Given the description of an element on the screen output the (x, y) to click on. 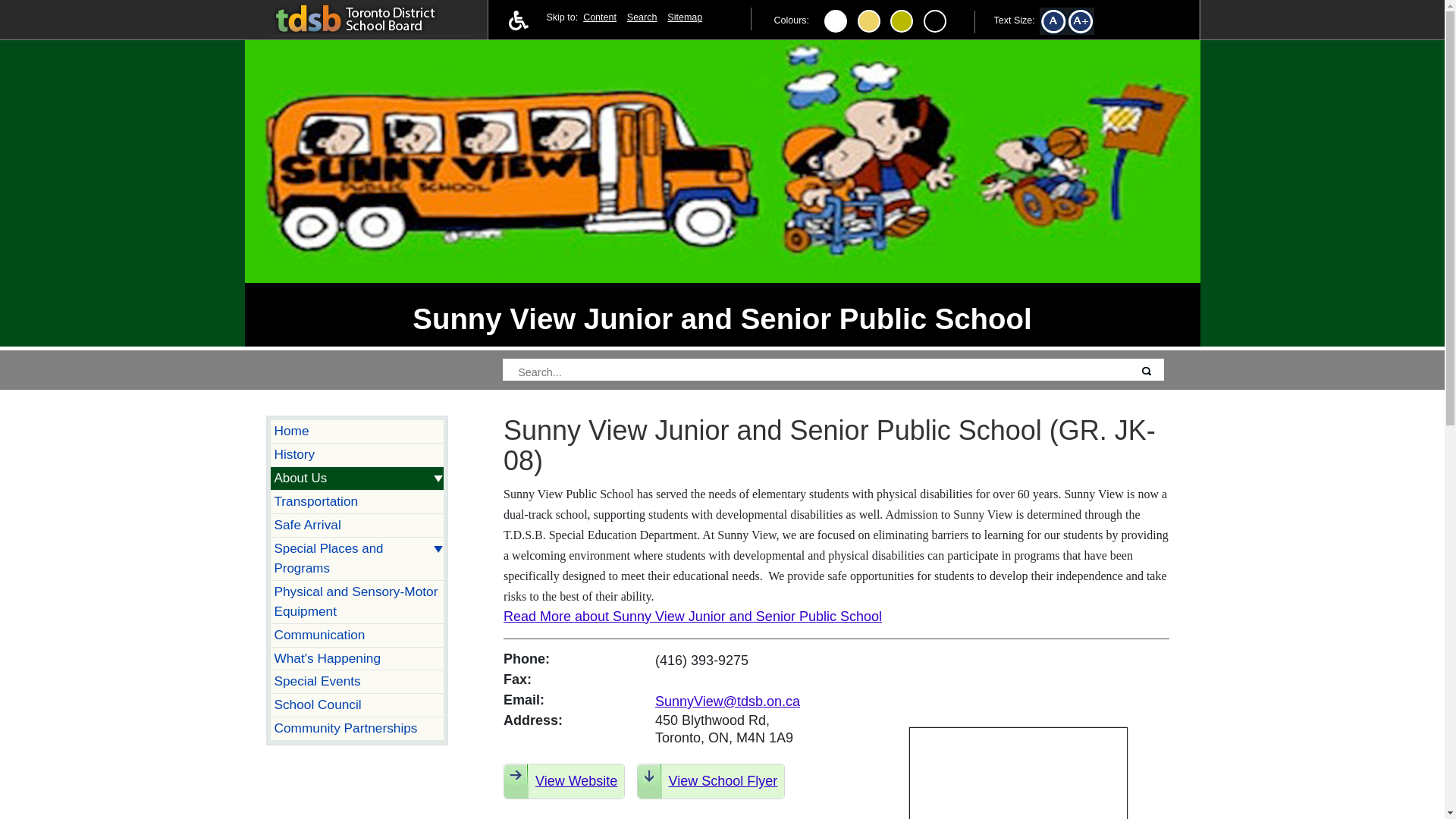
Increase Font Size (1086, 24)
Clear search text (1128, 376)
View Sunny View Junior and Senior Public School Website (563, 781)
School Map for Sunny View Junior and Senior Public School (1018, 773)
TDSB Logo (371, 17)
High Contrast Colour Scheme (868, 20)
Safe Arrival (357, 525)
About Us (357, 478)
Skip to search box (599, 17)
